Given the description of an element on the screen output the (x, y) to click on. 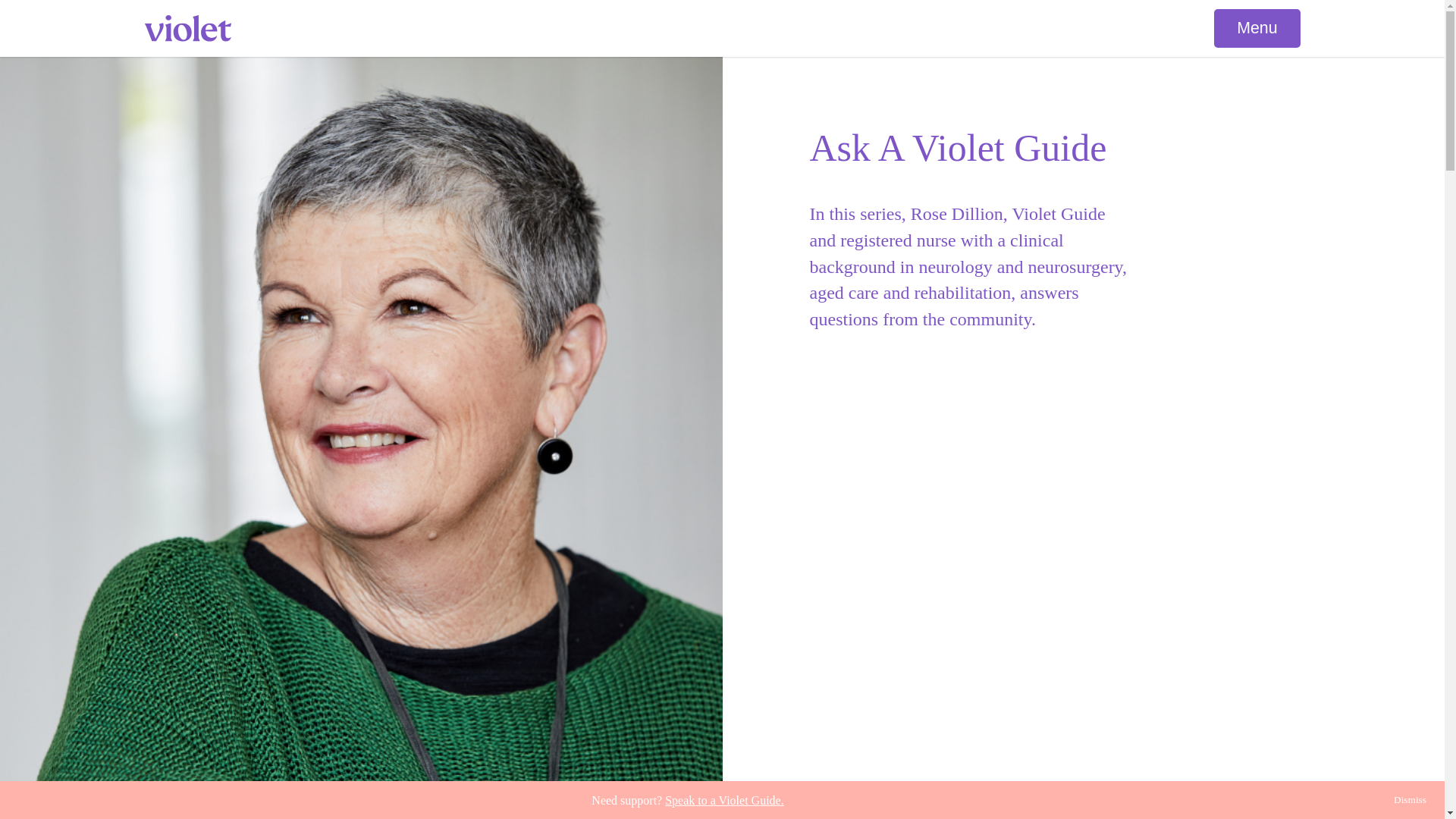
Speak to a Violet Guide. Element type: text (724, 799)
Violet logo Element type: hover (187, 28)
Menu Element type: text (1256, 28)
